Given the description of an element on the screen output the (x, y) to click on. 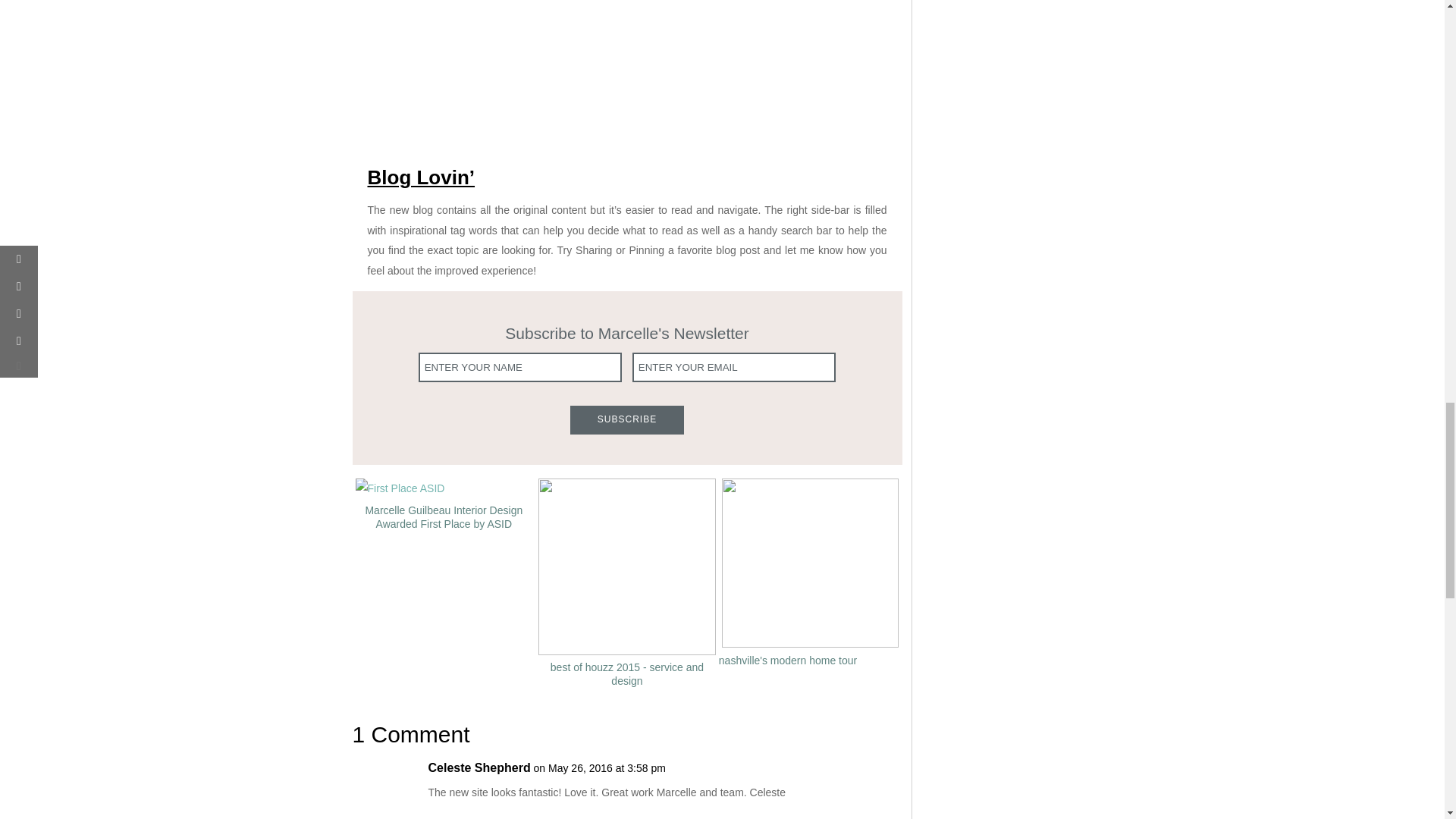
best of houzz 2015 - service and design (627, 672)
nashville's modern home tour (788, 659)
Subscribe (627, 419)
ENTER YOUR NAME (521, 367)
ENTER YOUR EMAIL (733, 367)
Celeste Shepherd (478, 768)
Subscribe (627, 419)
